Given the description of an element on the screen output the (x, y) to click on. 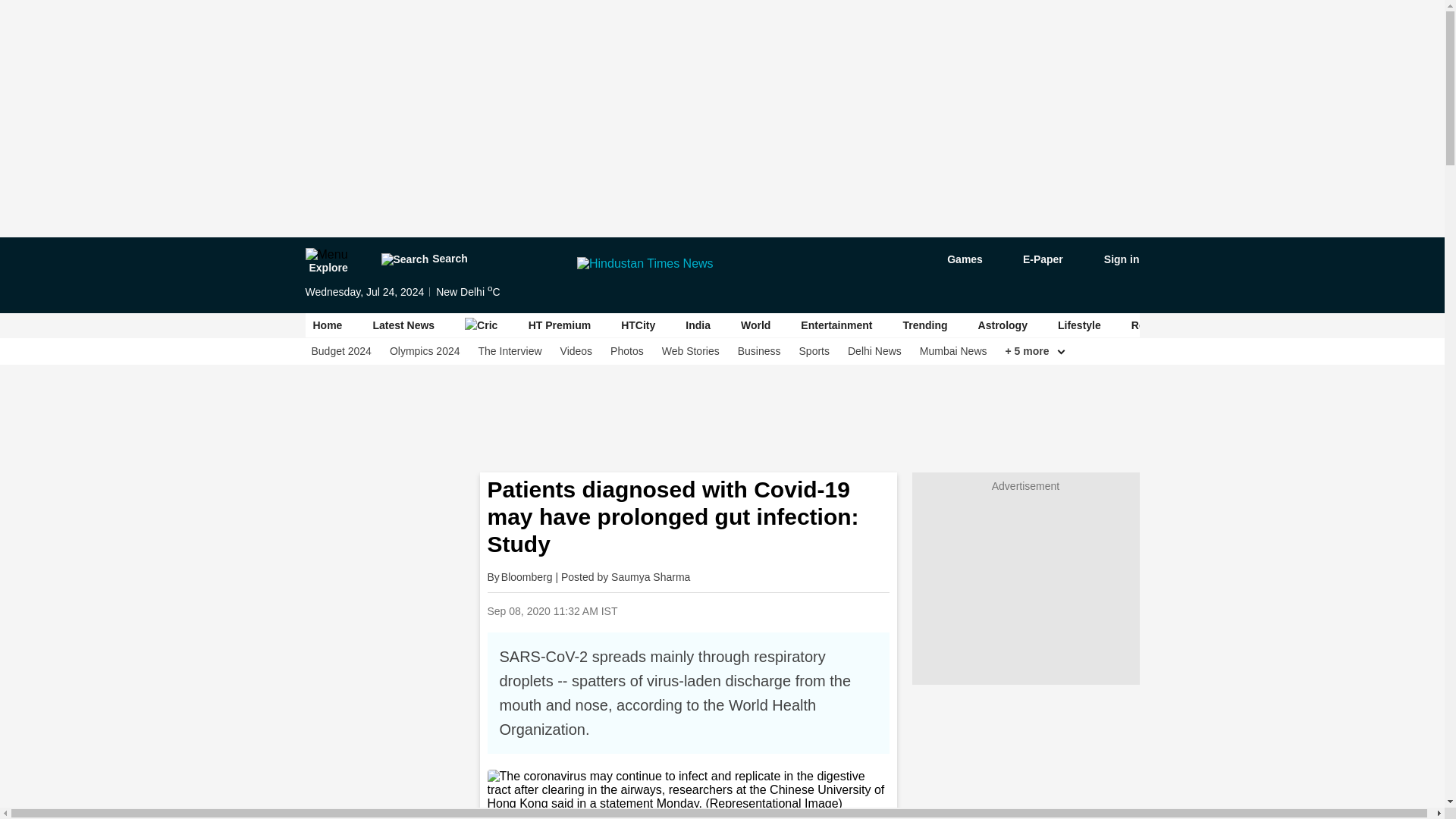
The Interview (509, 350)
Lifestyle (1079, 325)
Education (1243, 325)
Photos (626, 350)
Home (327, 325)
Share on Twitter (749, 610)
Videos (576, 350)
Search (423, 258)
HT Premium (559, 325)
Real Estate (1159, 325)
Share on Linkdin (788, 610)
Mumbai News (953, 350)
Web Stories (690, 350)
Games (954, 258)
Astrology (1002, 325)
